Given the description of an element on the screen output the (x, y) to click on. 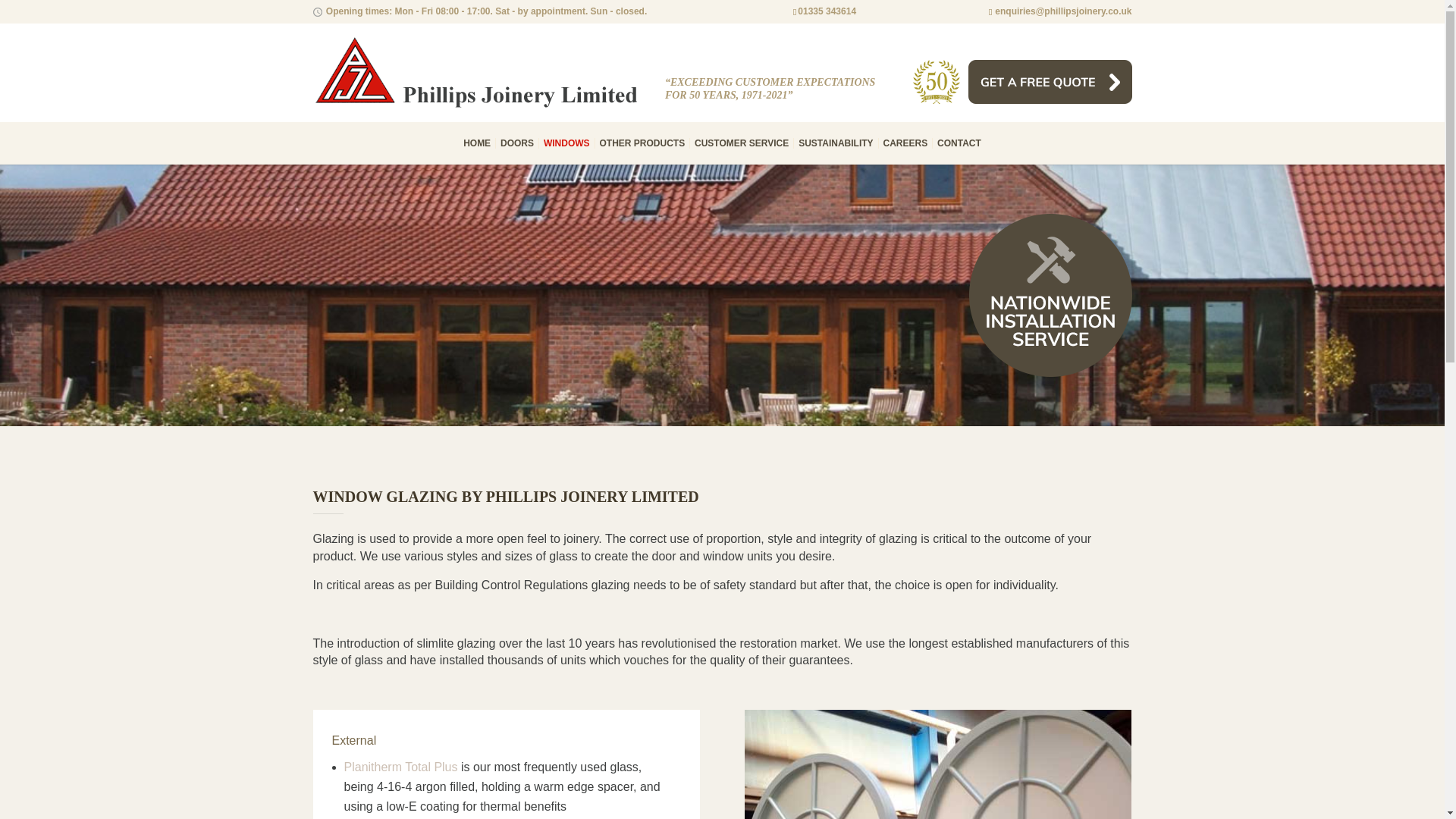
CONTACT (959, 143)
DOORS (517, 143)
WINDOWS (566, 143)
CAREERS (905, 143)
OTHER PRODUCTS (641, 143)
CUSTOMER SERVICE (741, 143)
HOME (476, 143)
SUSTAINABILITY (834, 143)
